Given the description of an element on the screen output the (x, y) to click on. 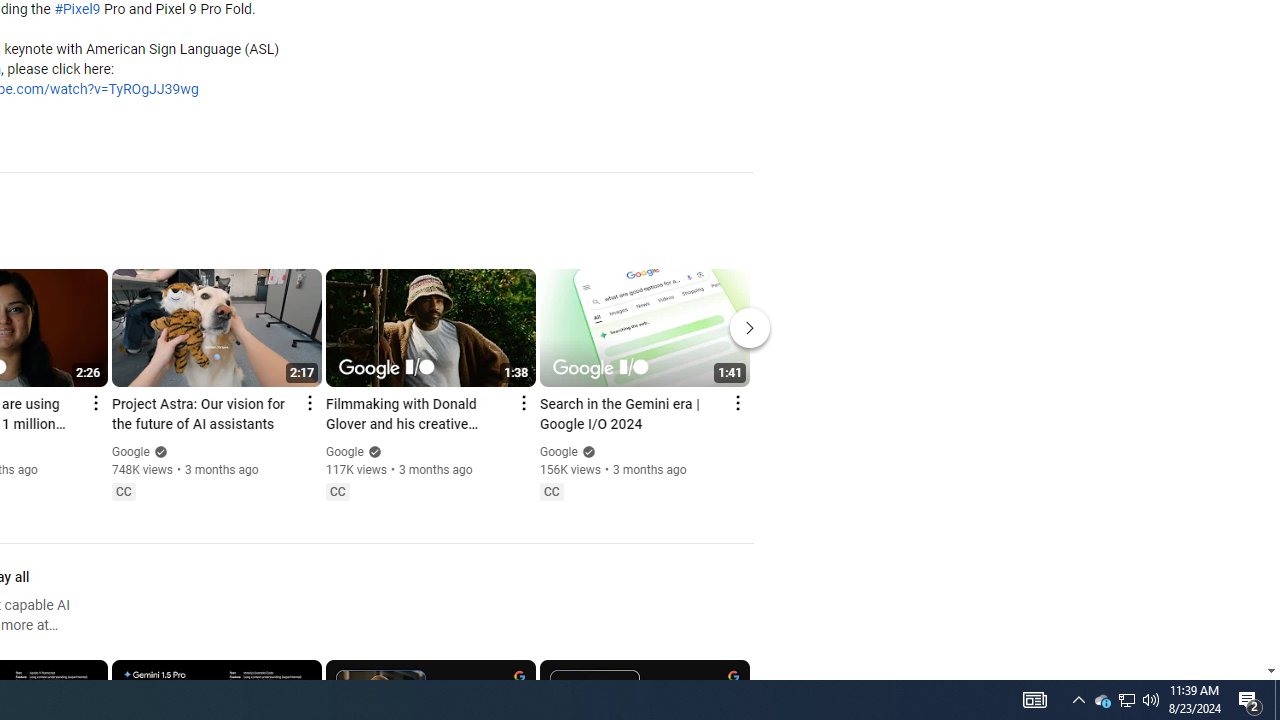
Closed captions (551, 492)
#Pixel9 (77, 10)
